Given the description of an element on the screen output the (x, y) to click on. 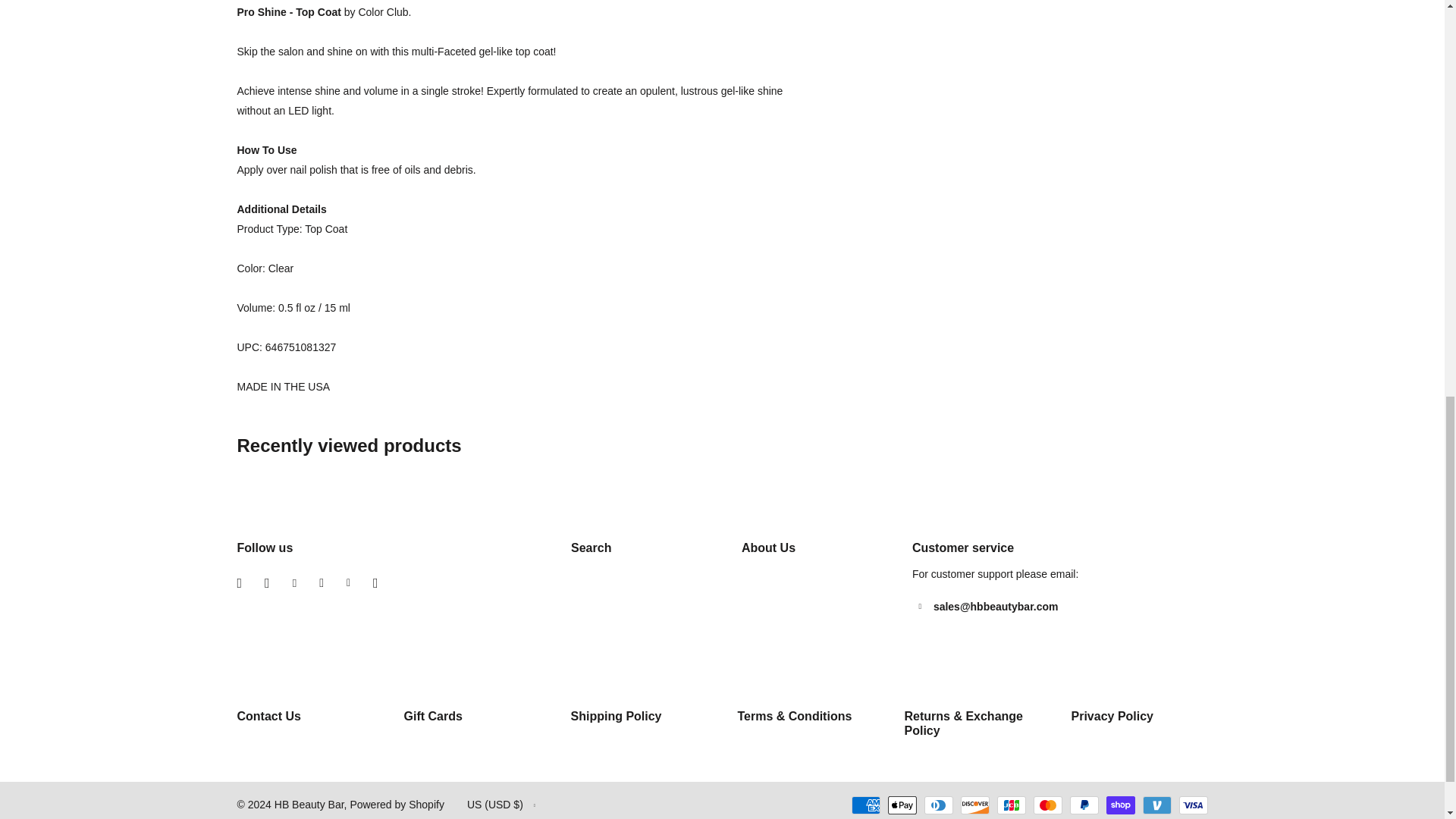
Apple Pay (900, 805)
Discover (973, 805)
American Express (864, 805)
PayPal (1082, 805)
Mastercard (1046, 805)
Shop Pay (1119, 805)
Visa (1192, 805)
JCB (1010, 805)
Venmo (1155, 805)
Diners Club (937, 805)
